Given the description of an element on the screen output the (x, y) to click on. 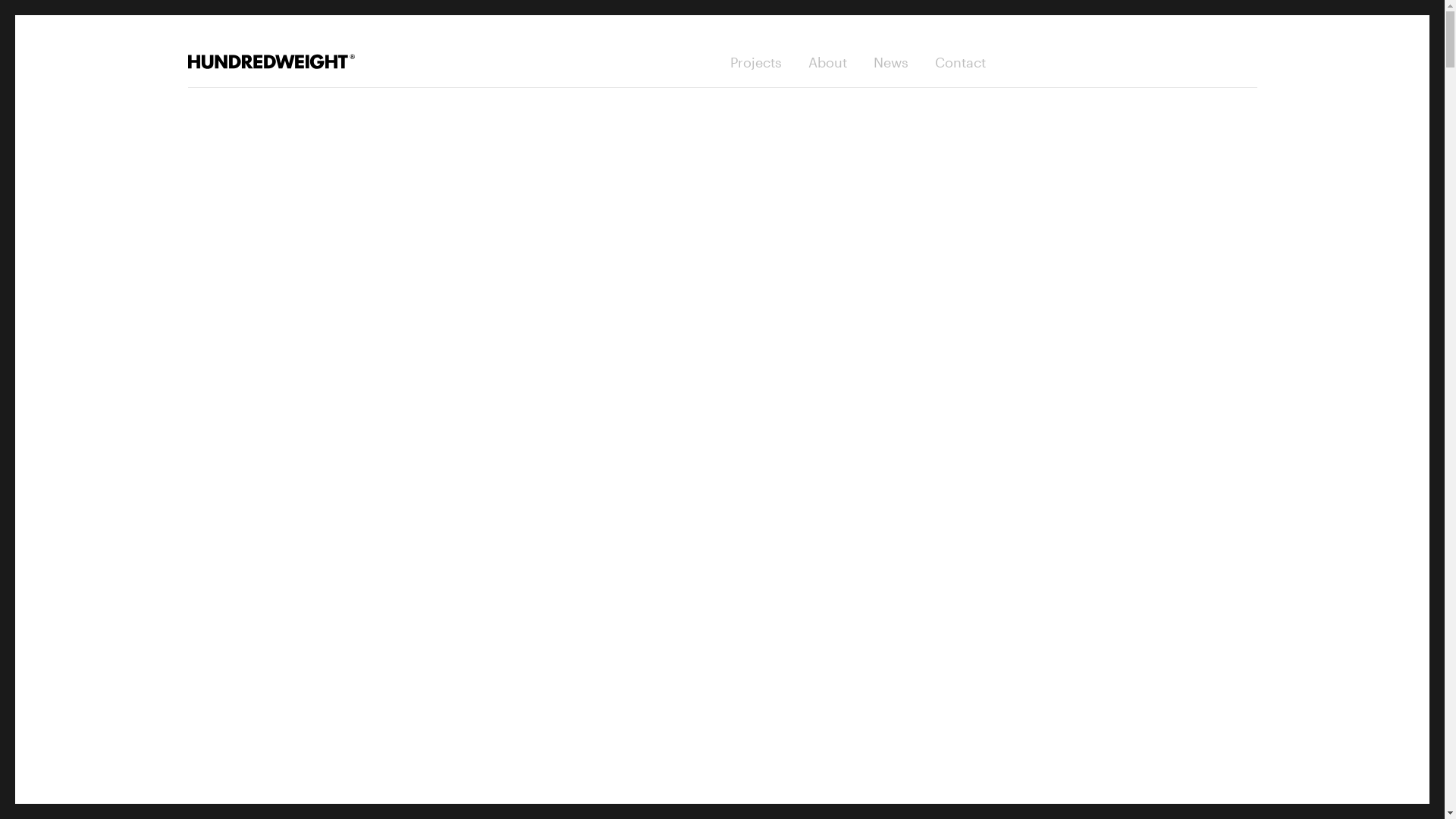
About Element type: text (827, 61)
Contact Element type: text (959, 61)
News Element type: text (890, 61)
Projects Element type: text (755, 61)
